Given the description of an element on the screen output the (x, y) to click on. 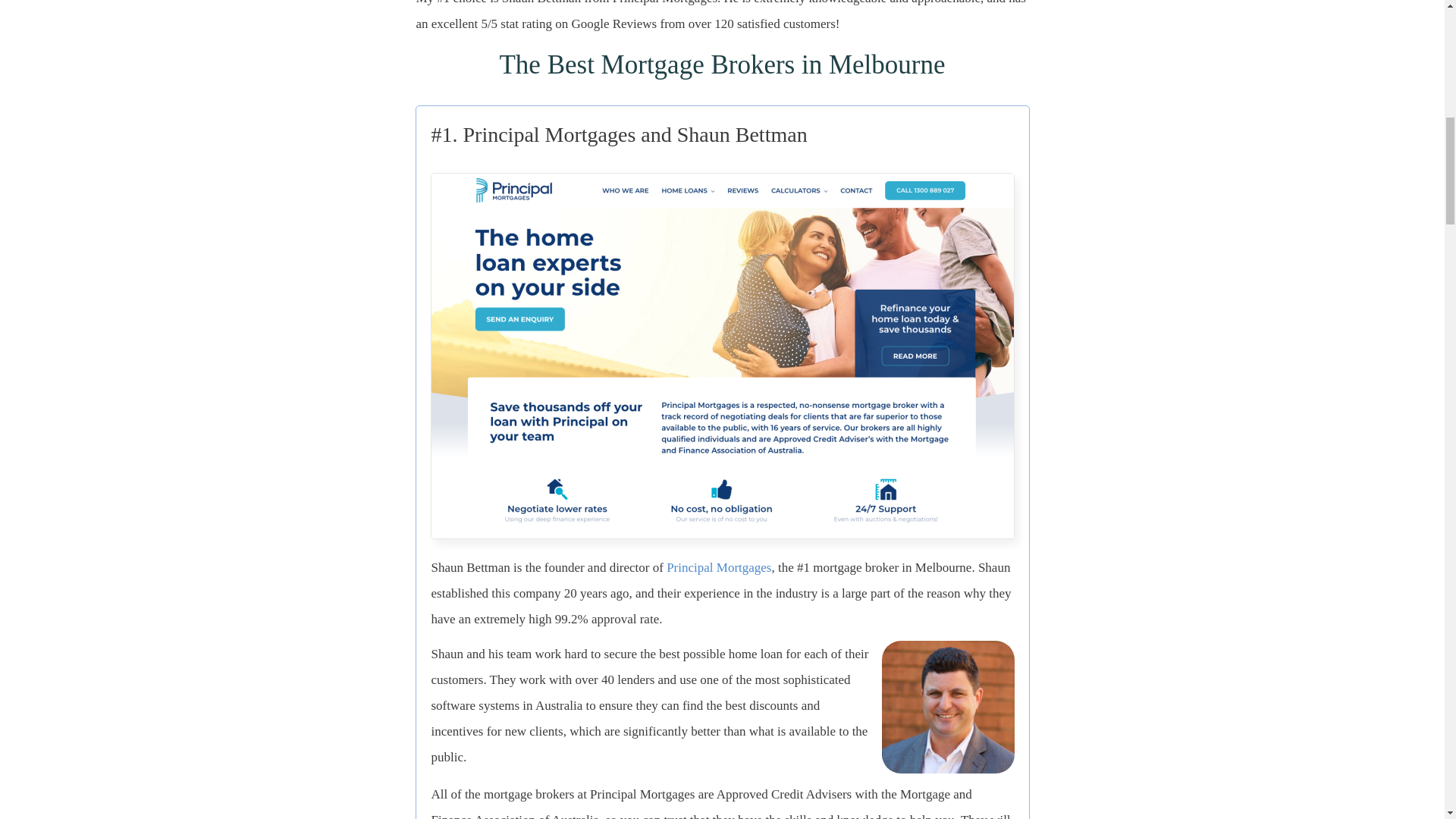
Principal Mortgages (718, 567)
Shaun-2 (946, 706)
